Given the description of an element on the screen output the (x, y) to click on. 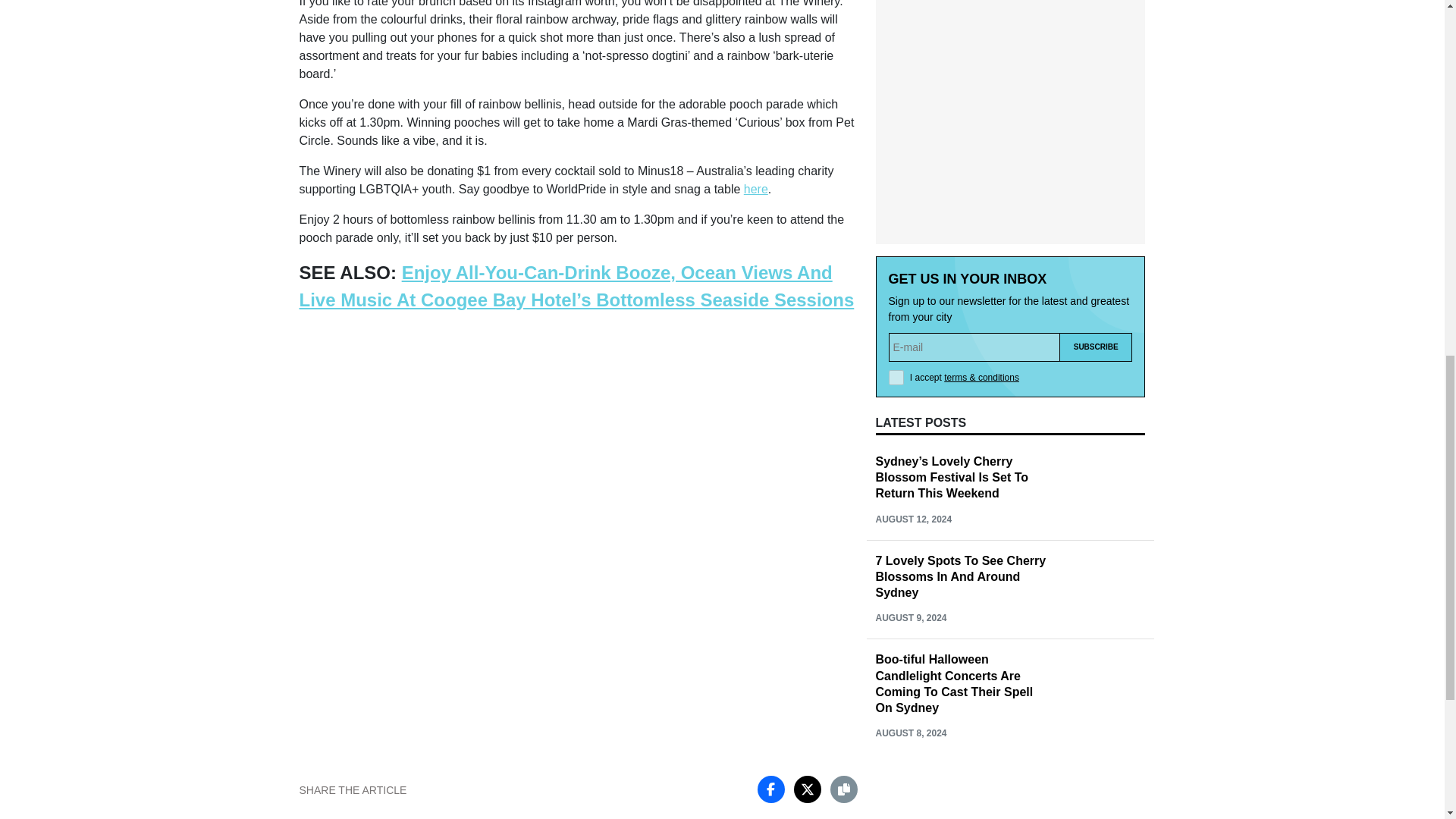
Subscribe (1095, 347)
here (756, 188)
Subscribe (1095, 347)
AUGUST 12, 2024 (913, 519)
1 (896, 377)
AUGUST 9, 2024 (910, 617)
7 Lovely Spots To See Cherry Blossoms In And Around Sydney (960, 575)
AUGUST 8, 2024 (910, 733)
